Given the description of an element on the screen output the (x, y) to click on. 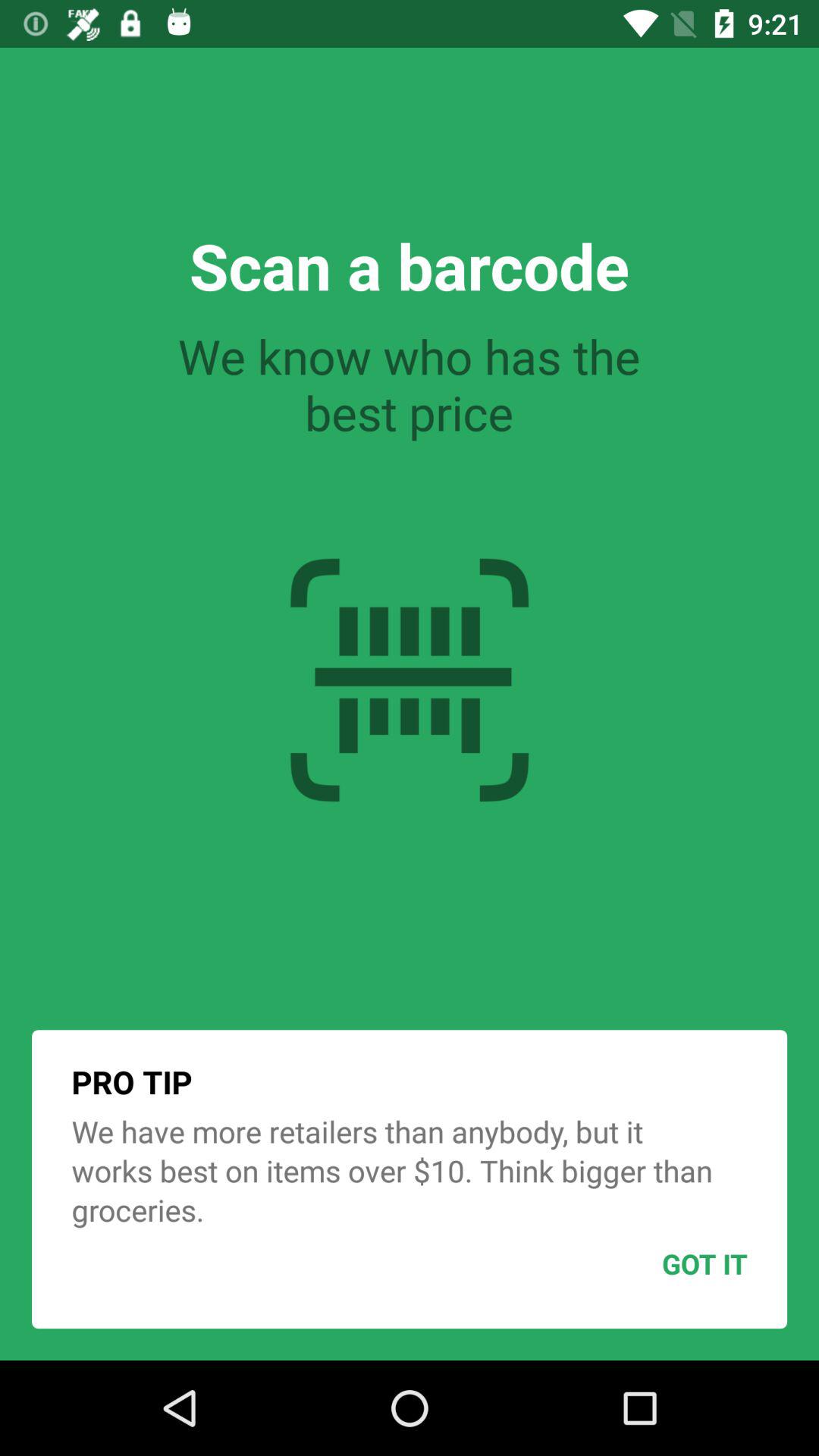
select got it item (667, 1263)
